Given the description of an element on the screen output the (x, y) to click on. 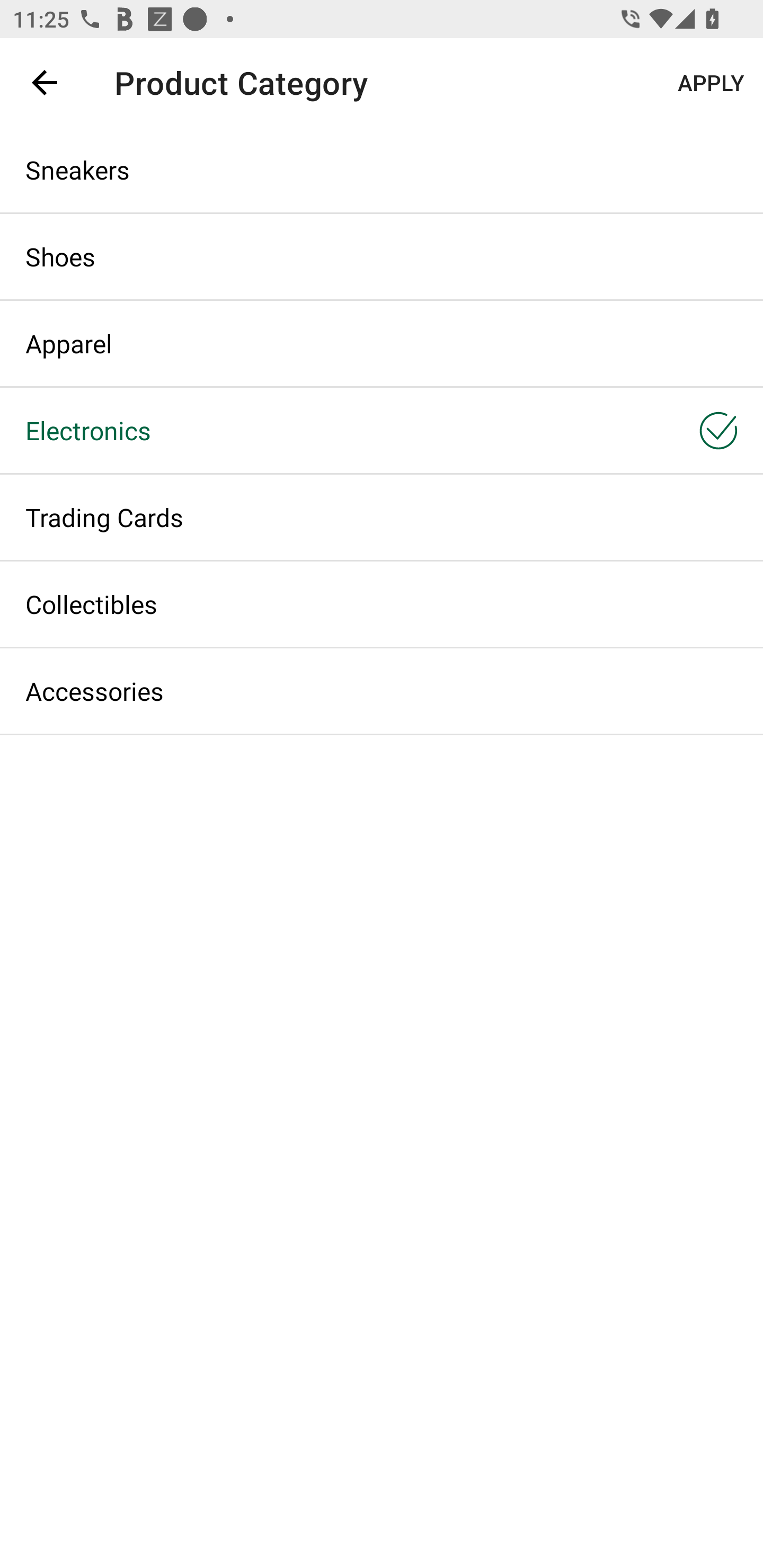
flats (370, 82)
APPLY (710, 81)
Sneakers (381, 169)
Shoes (381, 256)
Apparel (381, 343)
Electronics Next (381, 430)
Trading Cards (381, 517)
Collectibles (381, 603)
Accessories (381, 691)
